Given the description of an element on the screen output the (x, y) to click on. 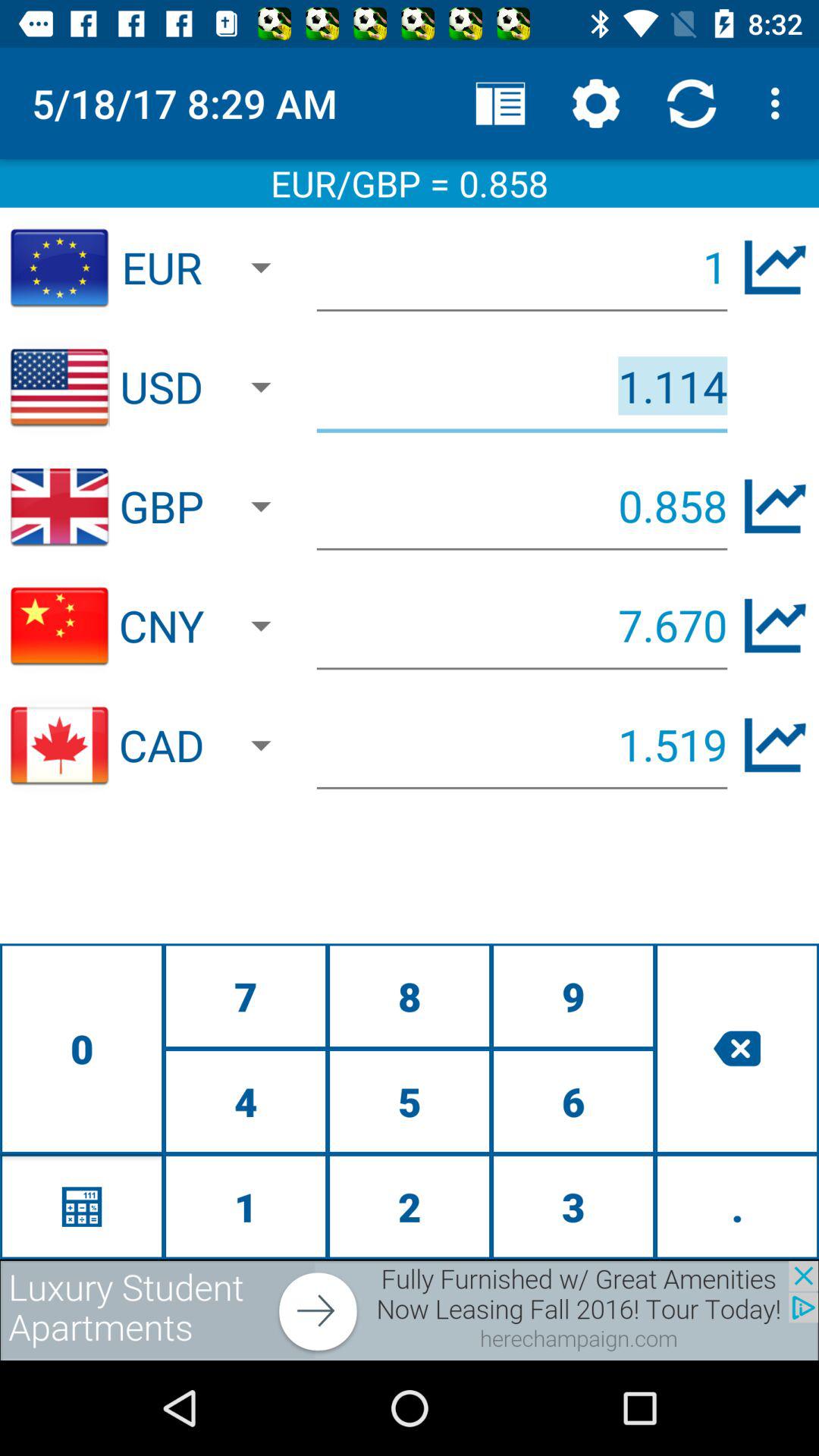
go to calculator (81, 1206)
